Given the description of an element on the screen output the (x, y) to click on. 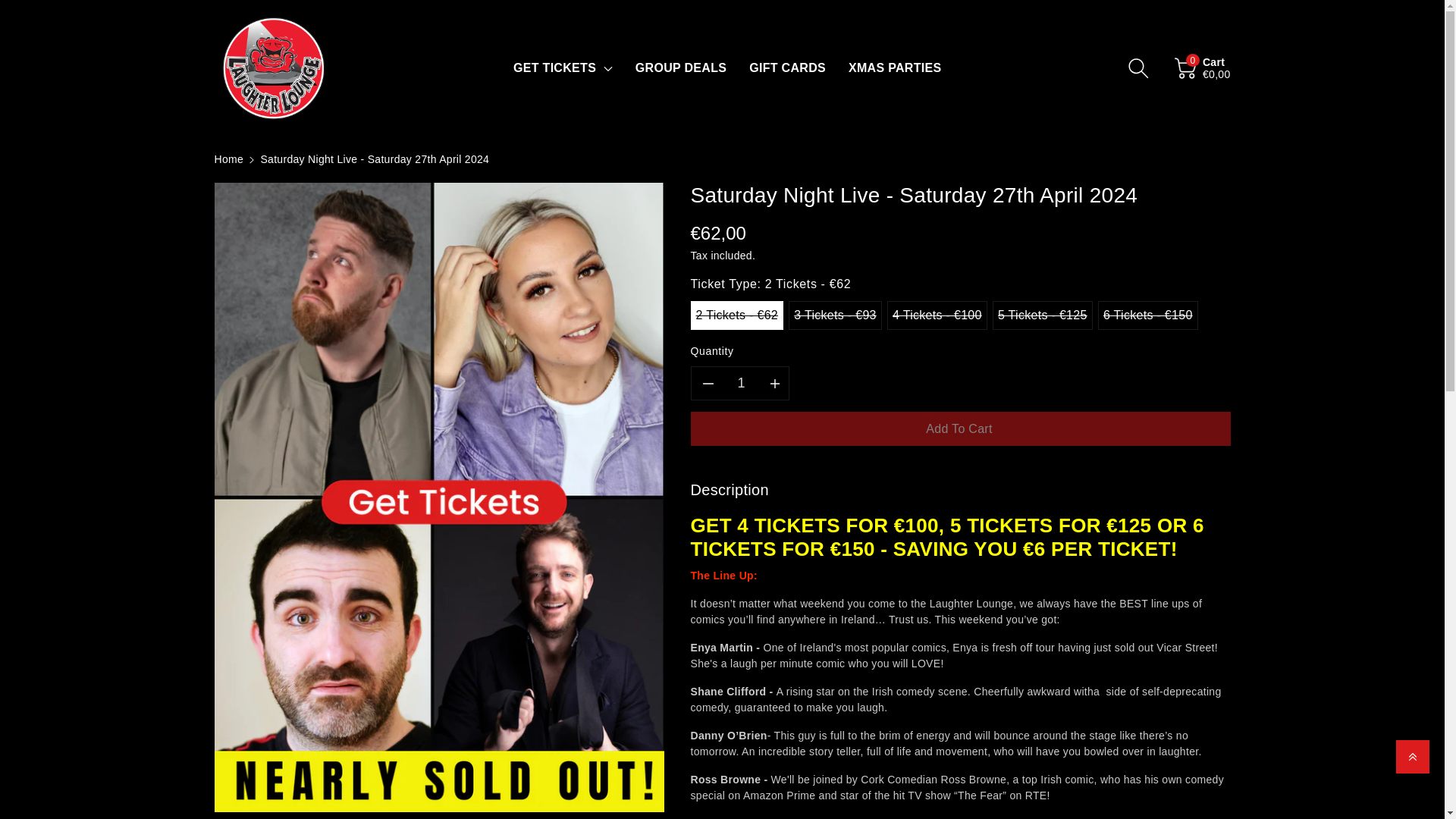
1 (741, 383)
Skip To Product Information (222, 190)
Home (228, 159)
Scroll to top (1412, 756)
GROUP DEALS (680, 67)
Home (228, 159)
GIFT CARDS (787, 67)
XMAS PARTIES (894, 67)
Skip To Content (8, 8)
